Given the description of an element on the screen output the (x, y) to click on. 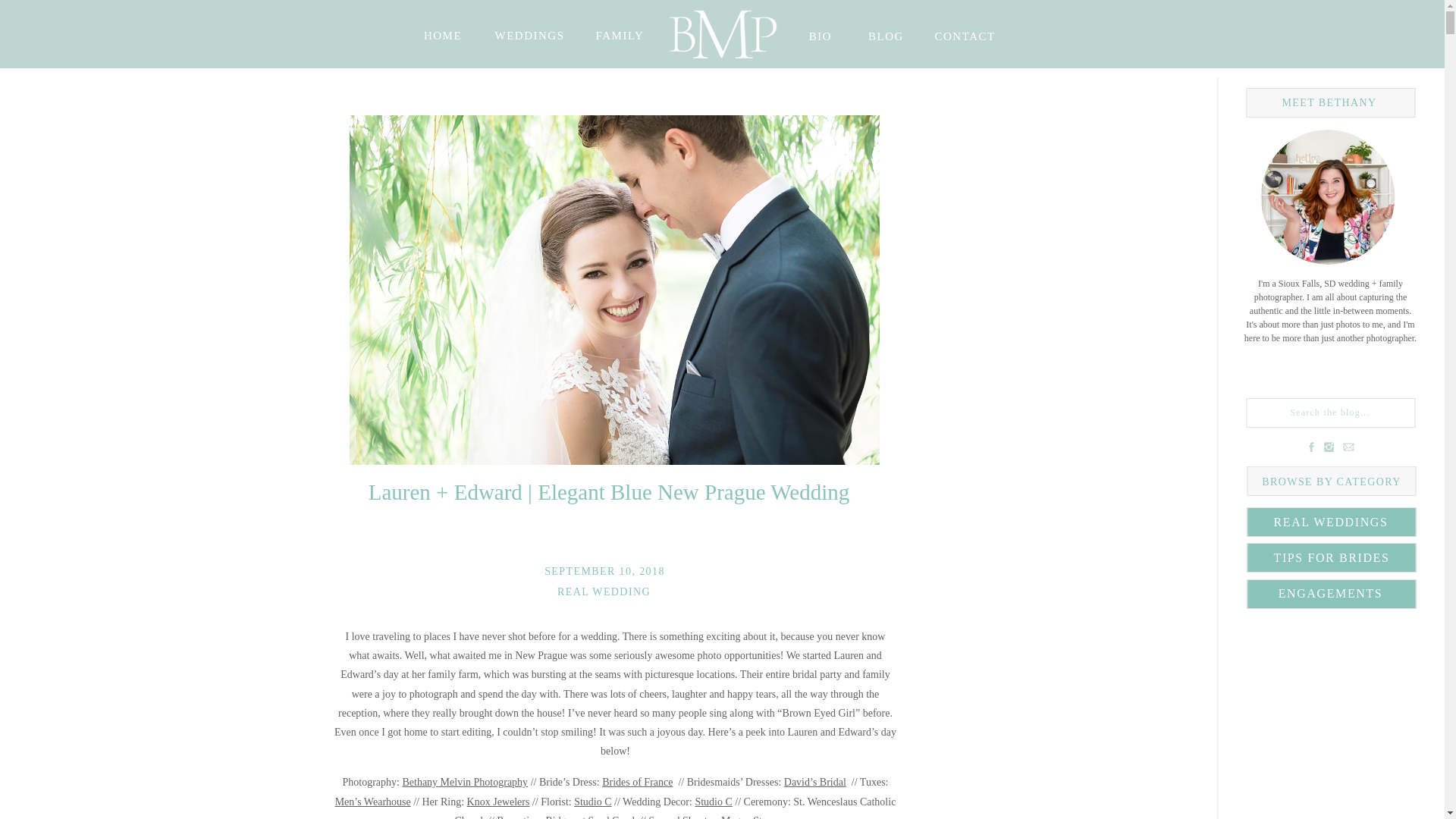
REAL WEDDINGS (1330, 519)
Studio C (592, 801)
CONTACT (962, 33)
ENGAGEMENTS (1329, 590)
Ridges at Sand Creek (591, 816)
REAL WEDDING (603, 591)
Bethany Melvin Photography (464, 781)
WEDDINGS (529, 34)
TIPS FOR BRIDES (1331, 555)
Studio C (713, 801)
BIO (819, 33)
HOME (442, 34)
Knox Jewelers (498, 801)
Brides of France (637, 781)
FAMILY (619, 32)
